Given the description of an element on the screen output the (x, y) to click on. 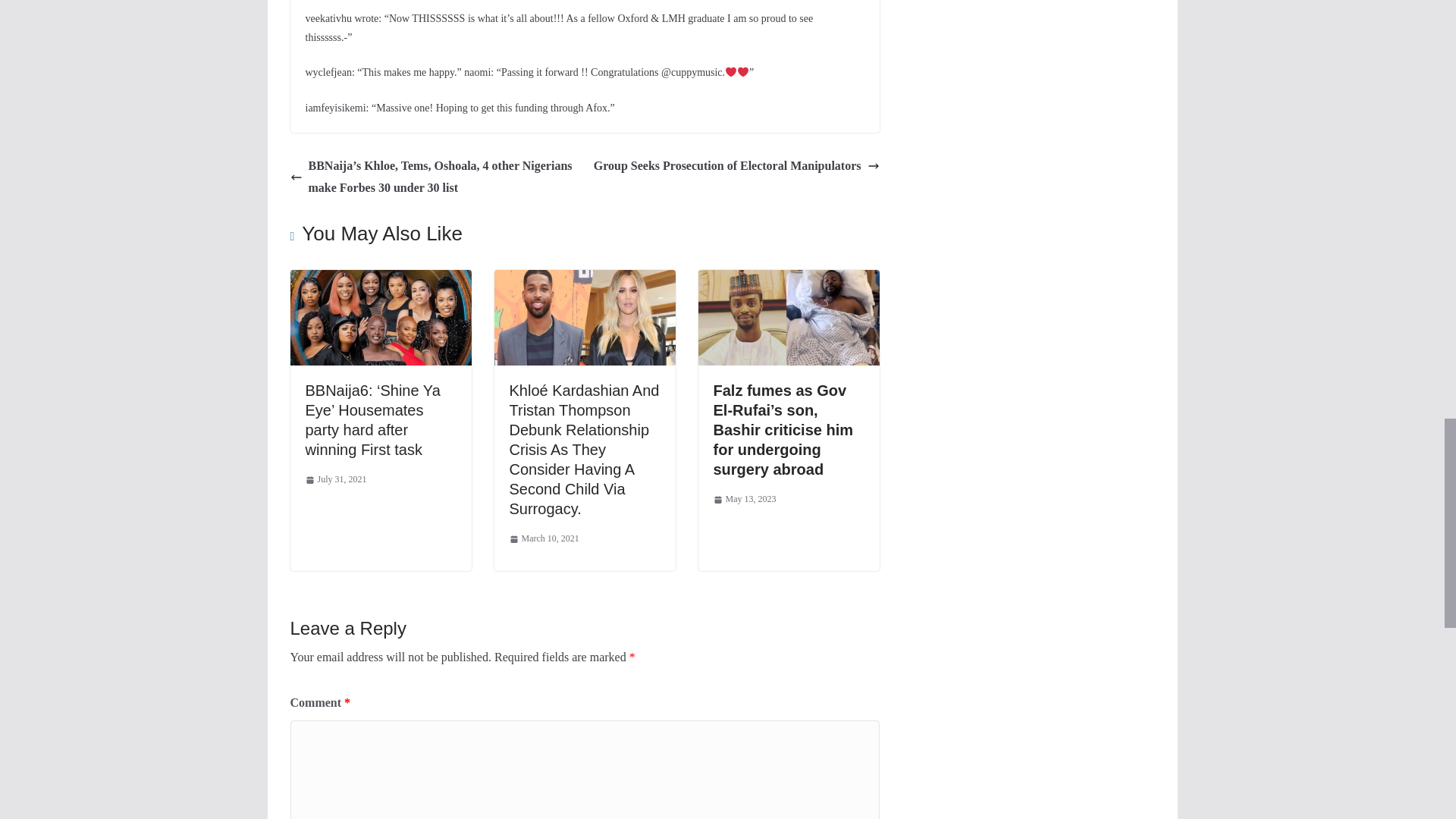
July 31, 2021 (335, 479)
1:44 pm (544, 538)
Group Seeks Prosecution of Electoral Manipulators (736, 166)
9:37 pm (335, 479)
May 13, 2023 (744, 499)
March 10, 2021 (544, 538)
6:02 am (744, 499)
